Given the description of an element on the screen output the (x, y) to click on. 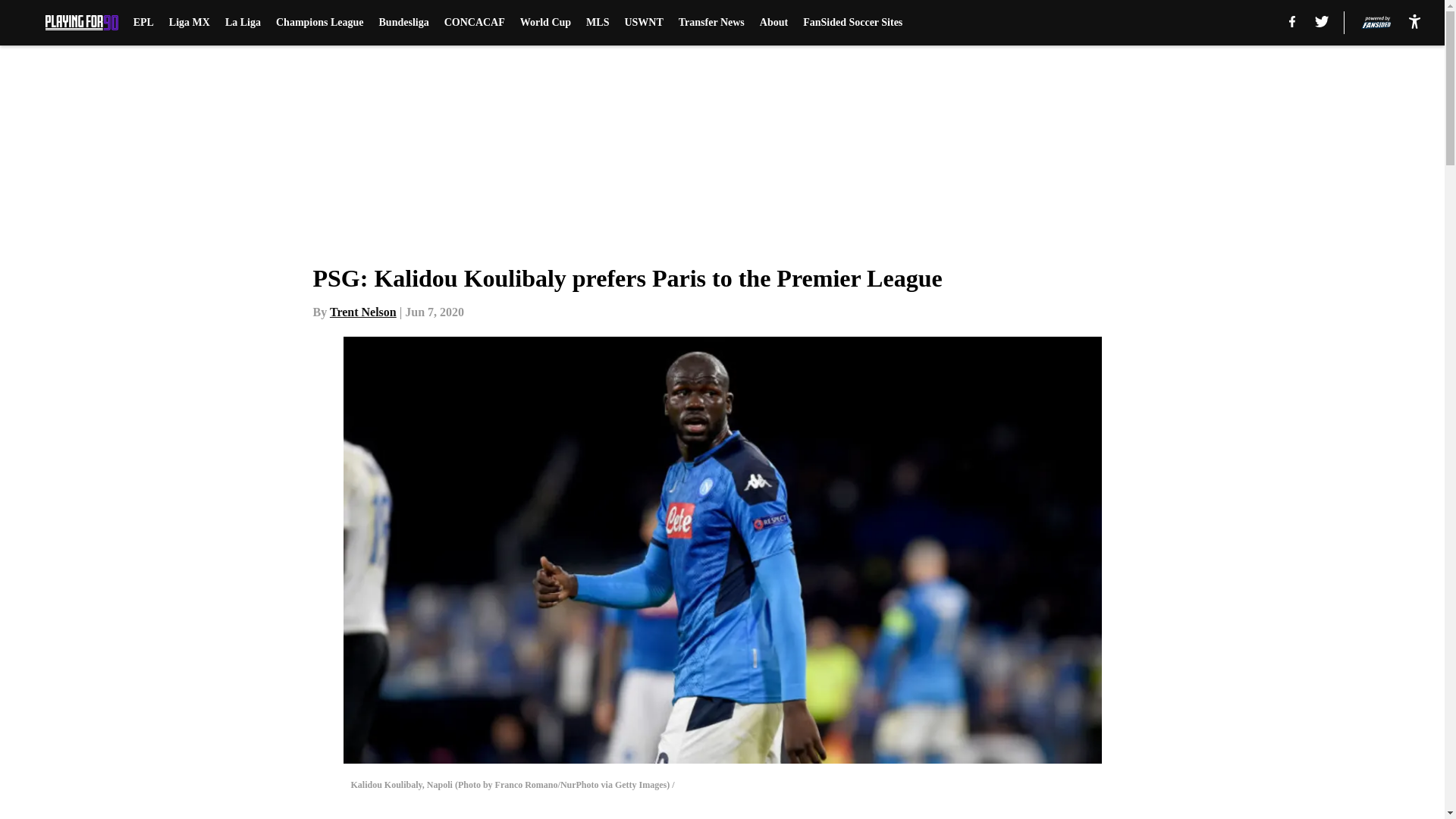
Transfer News (711, 22)
Liga MX (188, 22)
CONCACAF (474, 22)
World Cup (544, 22)
About (773, 22)
Trent Nelson (363, 311)
La Liga (242, 22)
USWNT (643, 22)
MLS (597, 22)
Bundesliga (403, 22)
FanSided Soccer Sites (852, 22)
Champions League (320, 22)
EPL (143, 22)
